Given the description of an element on the screen output the (x, y) to click on. 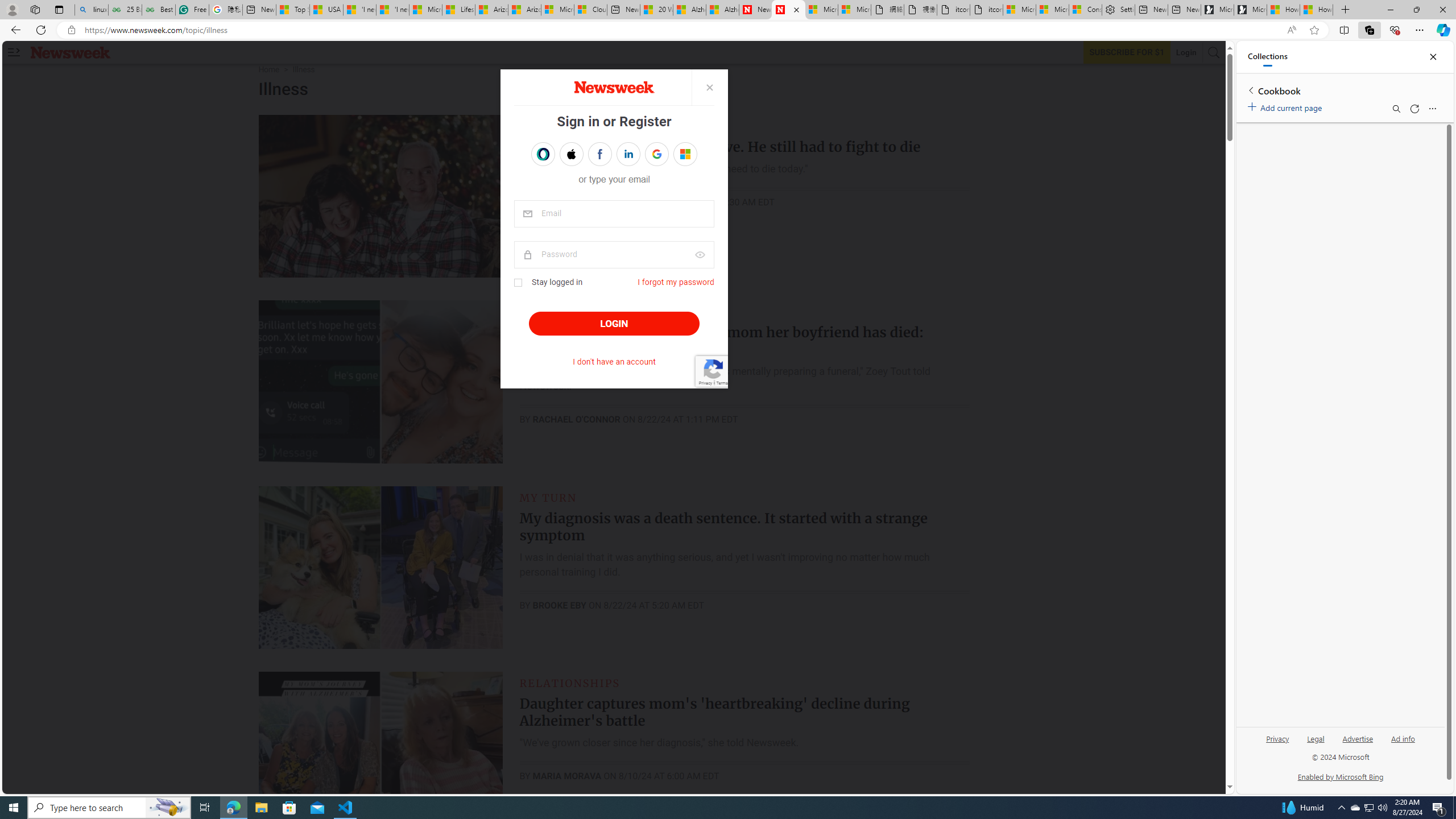
Illness news & latest pictures from Newsweek.com (788, 9)
Ad info (1402, 742)
Legal (1315, 738)
Subscribe to our service (1126, 52)
I don't have an account (613, 362)
Free AI Writing Assistance for Students | Grammarly (192, 9)
Login (1186, 51)
Address and search bar (680, 29)
LOGIN (613, 323)
Lifestyle - MSN (458, 9)
